Given the description of an element on the screen output the (x, y) to click on. 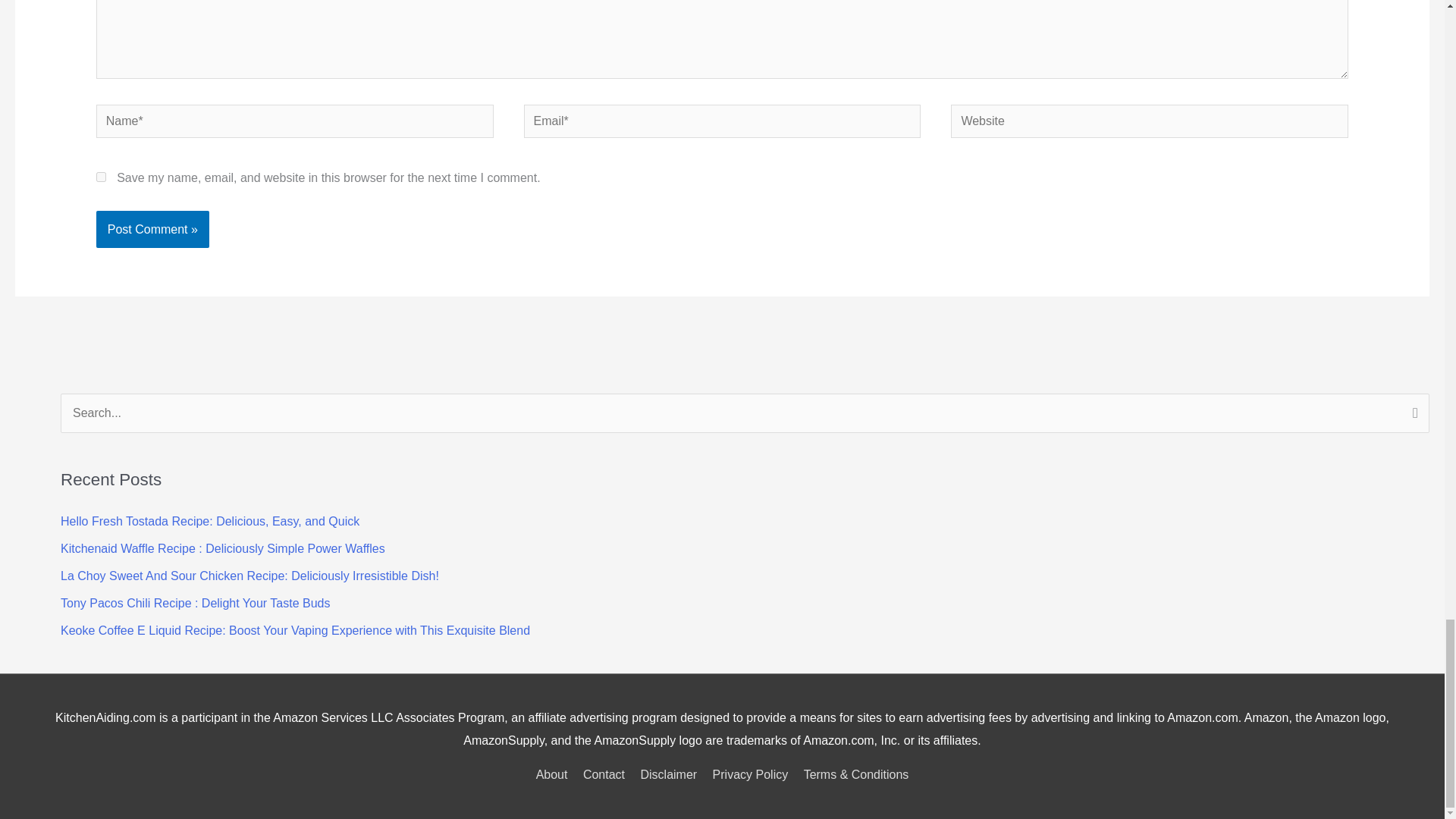
Hello Fresh Tostada Recipe: Delicious, Easy, and Quick (210, 521)
Tony Pacos Chili Recipe : Delight Your Taste Buds (195, 603)
Disclaimer (668, 774)
Kitchenaid Waffle Recipe : Deliciously Simple Power Waffles (223, 548)
About (554, 774)
Contact (603, 774)
yes (101, 176)
Privacy Policy (750, 774)
